Given the description of an element on the screen output the (x, y) to click on. 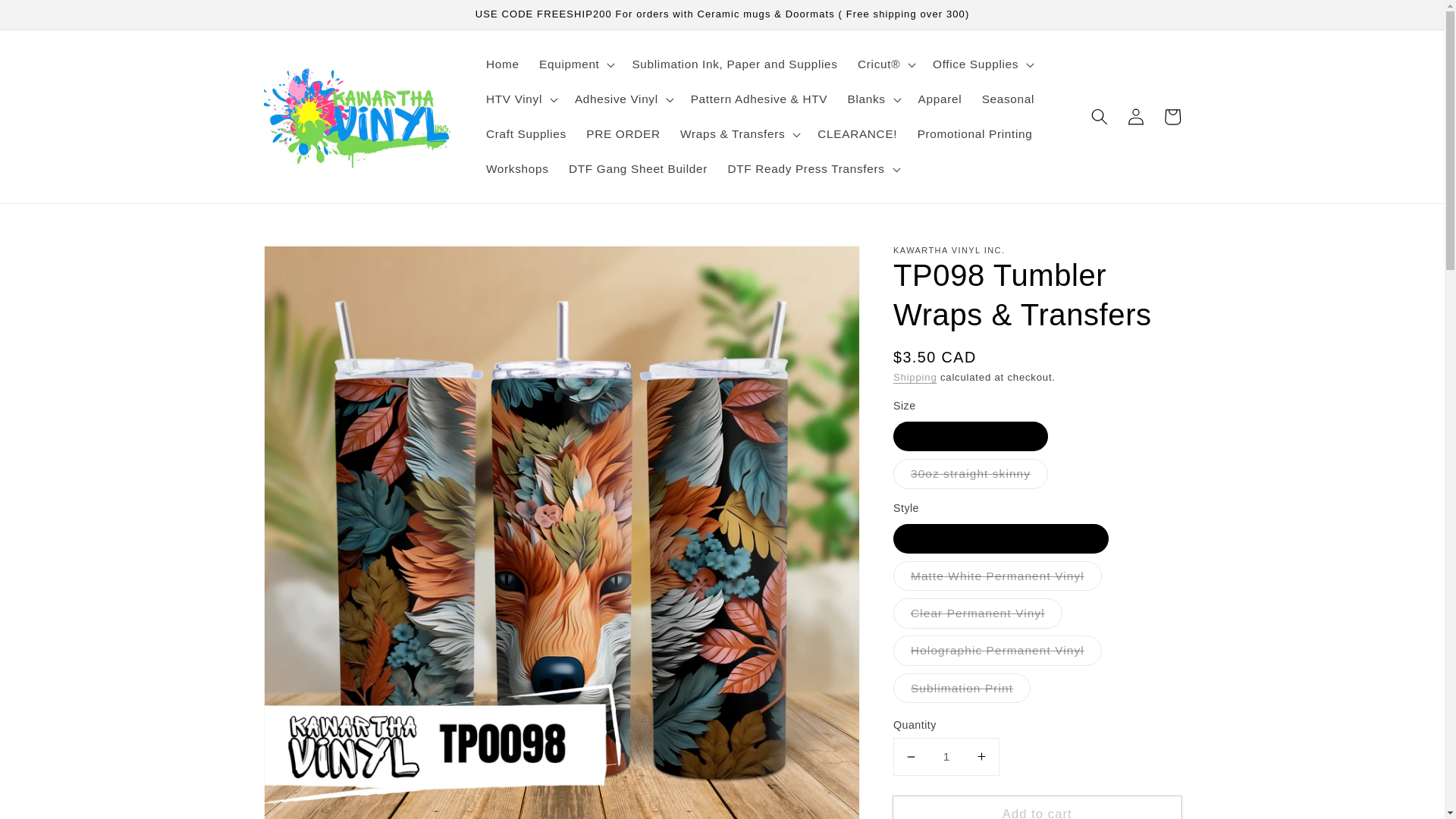
Skip to content (49, 18)
1 (945, 756)
